Given the description of an element on the screen output the (x, y) to click on. 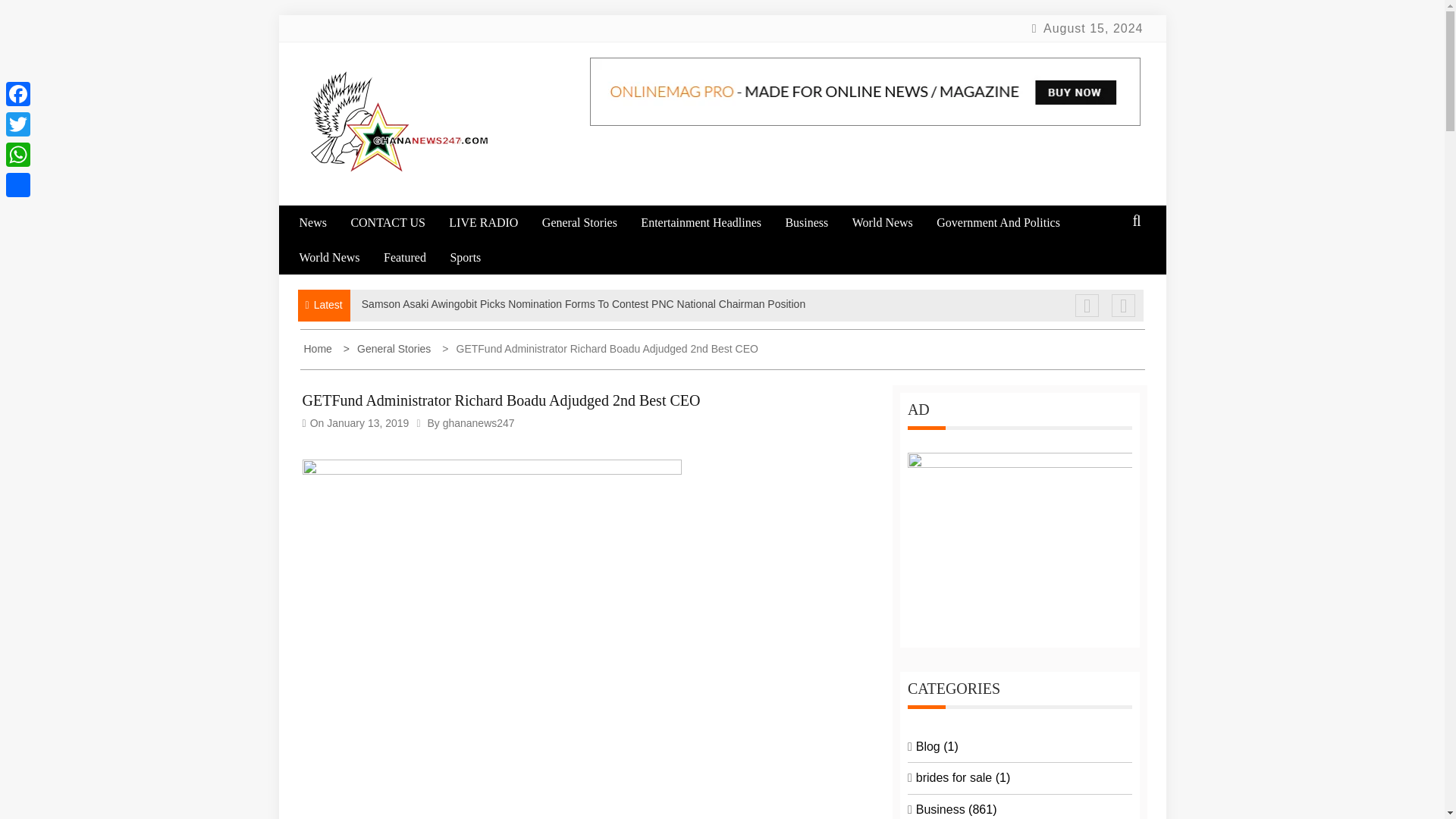
January 13, 2019 (367, 422)
ghananews247 (478, 422)
World News (892, 222)
CONTACT US (397, 222)
News (322, 222)
Government And Politics (1008, 222)
Home (318, 348)
Business (816, 222)
